Given the description of an element on the screen output the (x, y) to click on. 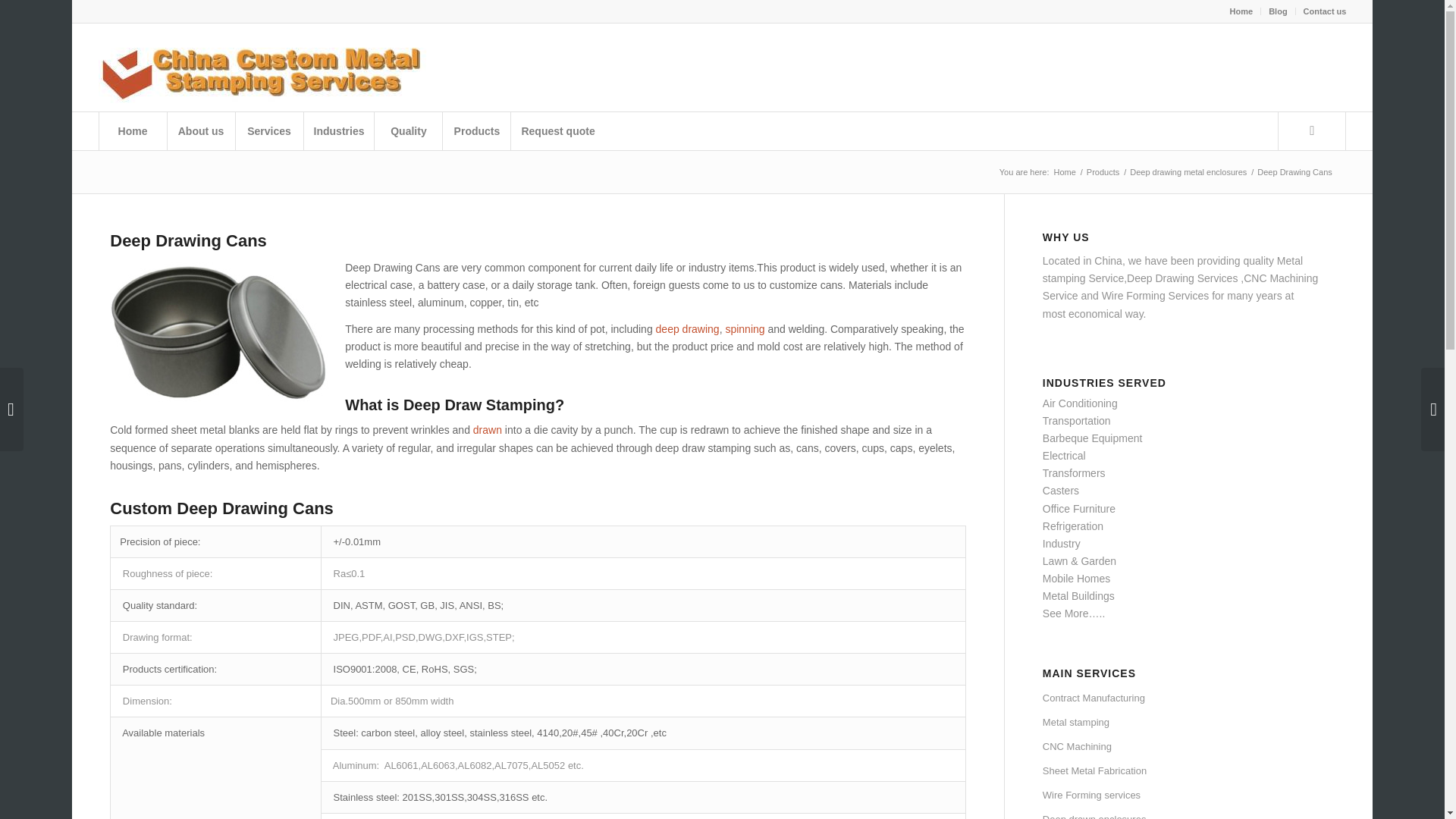
logo-1 (270, 63)
Home (133, 130)
logo-1 (270, 67)
About us (200, 130)
Quality (408, 130)
drawn (487, 429)
spinning (744, 328)
Products (476, 130)
Industries (338, 130)
Request quote (557, 130)
Home (1241, 11)
Products (1102, 172)
Blog (1277, 11)
deep drawing (687, 328)
Deep drawing metal enclosures (1187, 172)
